Given the description of an element on the screen output the (x, y) to click on. 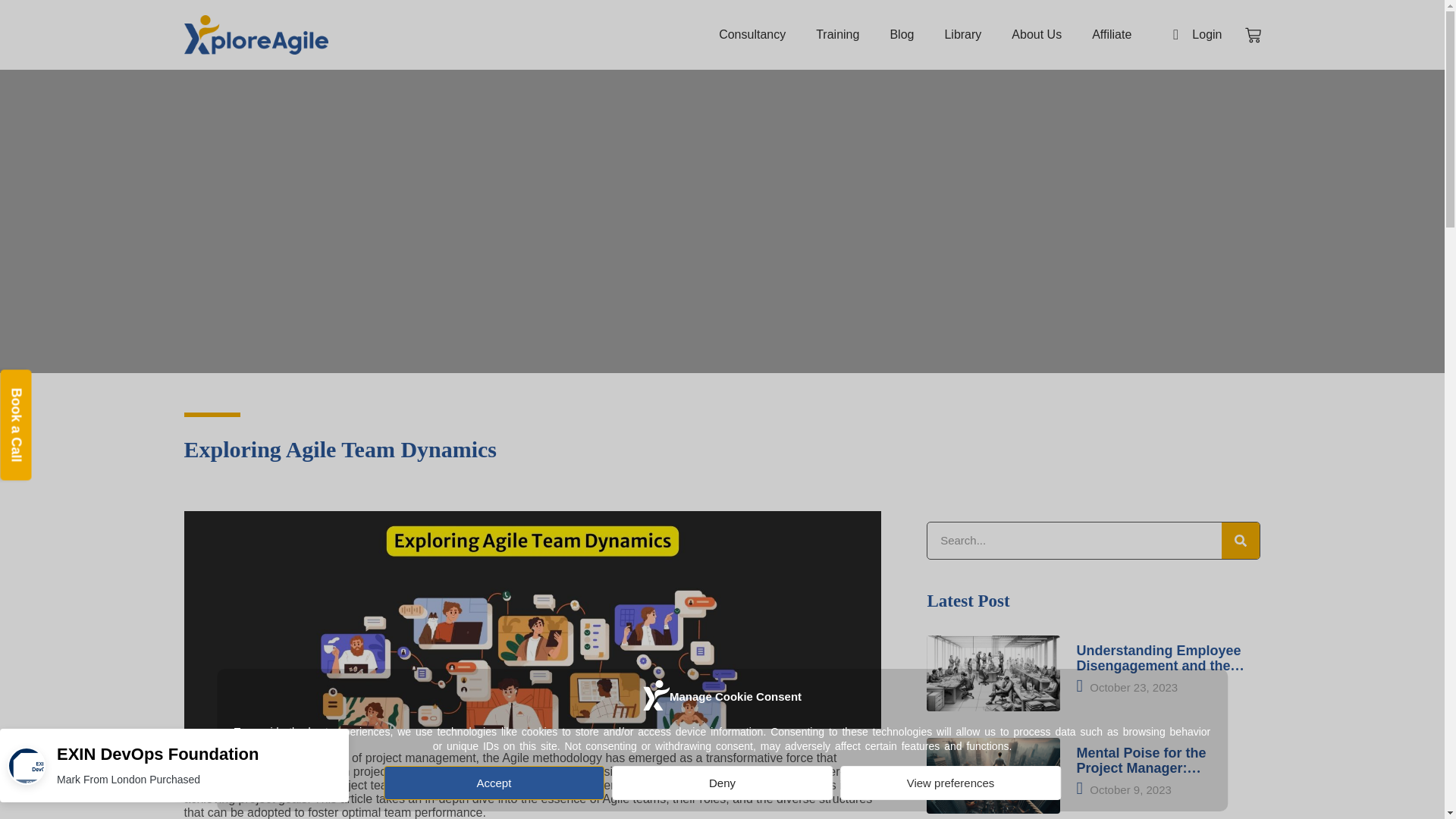
Consultancy (751, 34)
Accept (425, 782)
Login (1191, 34)
Affiliate (1112, 34)
Library (961, 34)
Training (837, 34)
About Us (1036, 34)
Deny (713, 782)
Blog (901, 34)
